Given the description of an element on the screen output the (x, y) to click on. 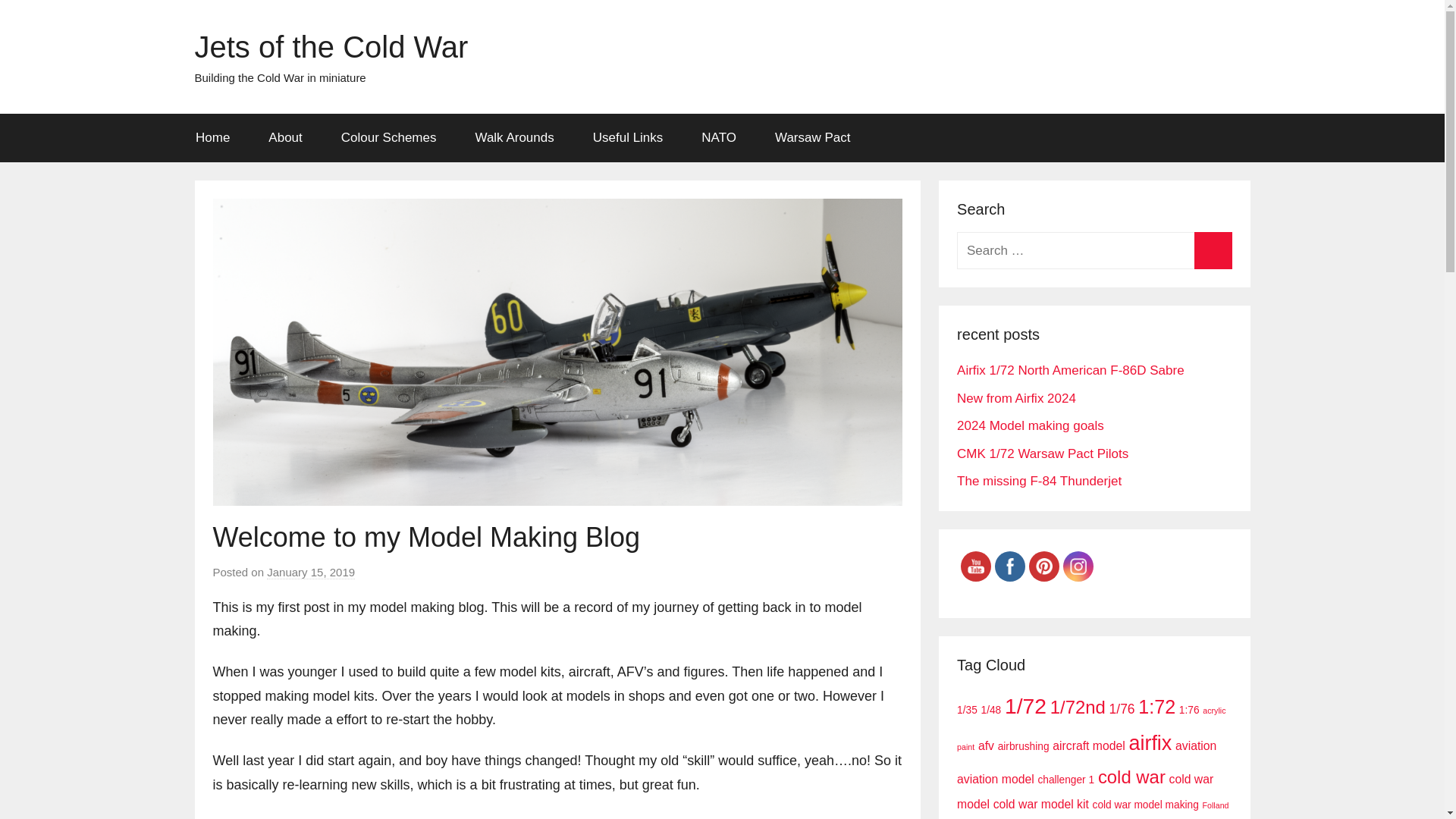
Warsaw Pact (812, 137)
January 15, 2019 (310, 572)
The missing F-84 Thunderjet (1038, 481)
Search for: (1093, 250)
Search (1212, 250)
Useful Links (627, 137)
Home (212, 137)
Facebook (1009, 565)
Jets of the Cold War (330, 46)
Walk Arounds (514, 137)
2024 Model making goals (1029, 425)
Colour Schemes (388, 137)
YouTube (976, 565)
NATO (718, 137)
New from Airfix 2024 (1015, 398)
